Given the description of an element on the screen output the (x, y) to click on. 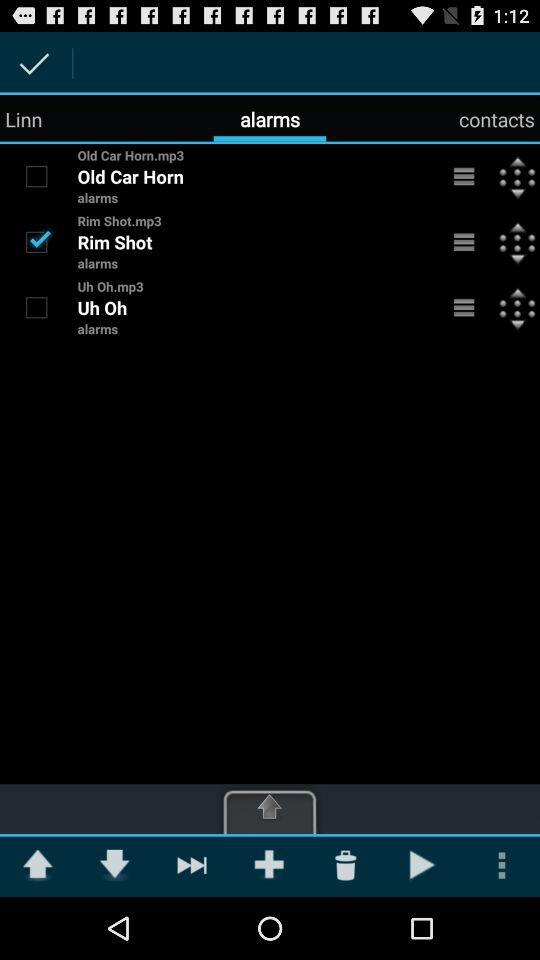
check box to uh oh (36, 307)
